Given the description of an element on the screen output the (x, y) to click on. 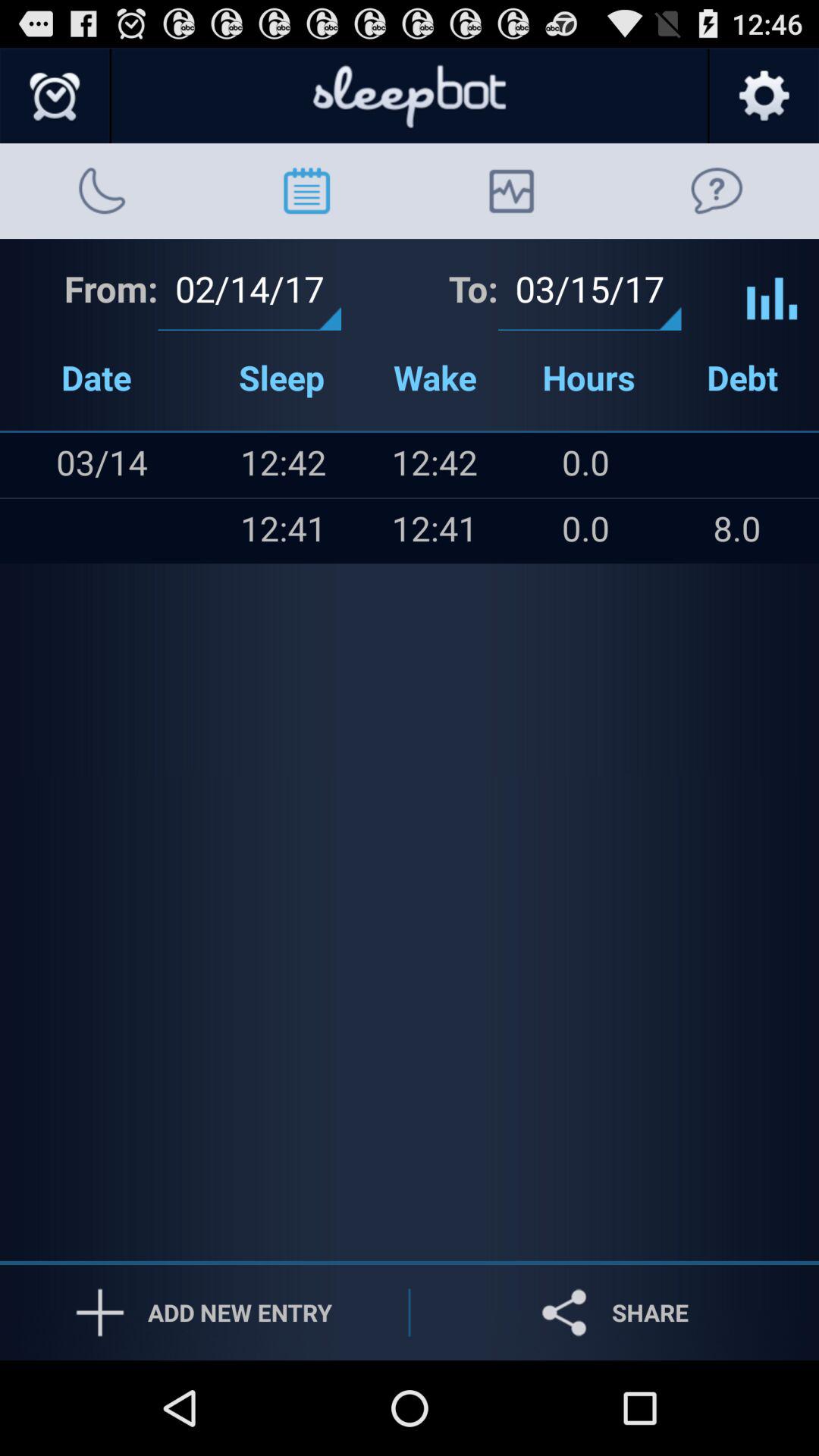
launch item next to the   icon (131, 531)
